Given the description of an element on the screen output the (x, y) to click on. 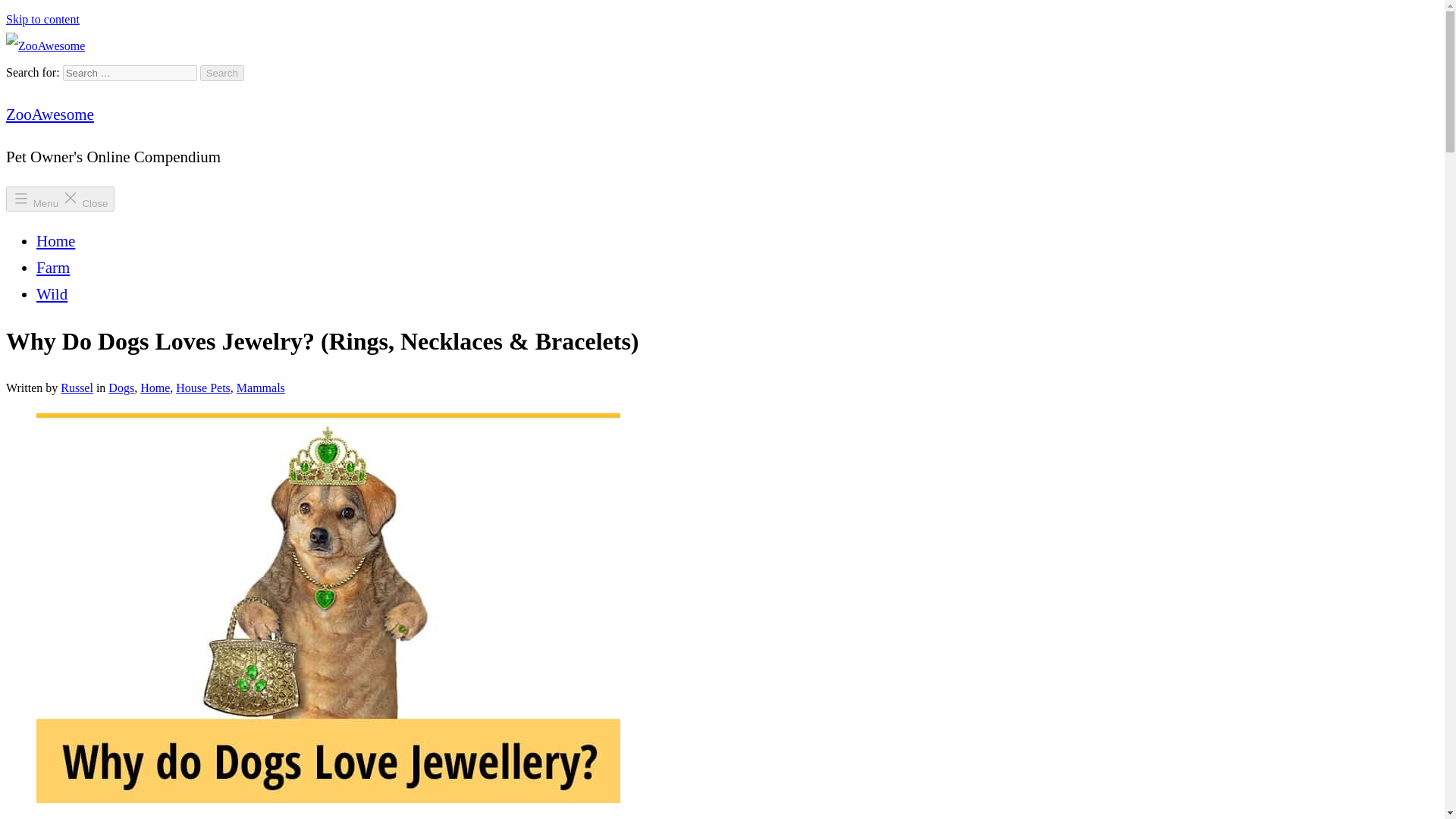
Search (222, 73)
Mammals (260, 387)
Search (222, 73)
Menu Close (60, 198)
Category Name (154, 387)
Category Name (203, 387)
Dogs (120, 387)
Russel (77, 387)
Wild (51, 294)
Home (55, 240)
